Given the description of an element on the screen output the (x, y) to click on. 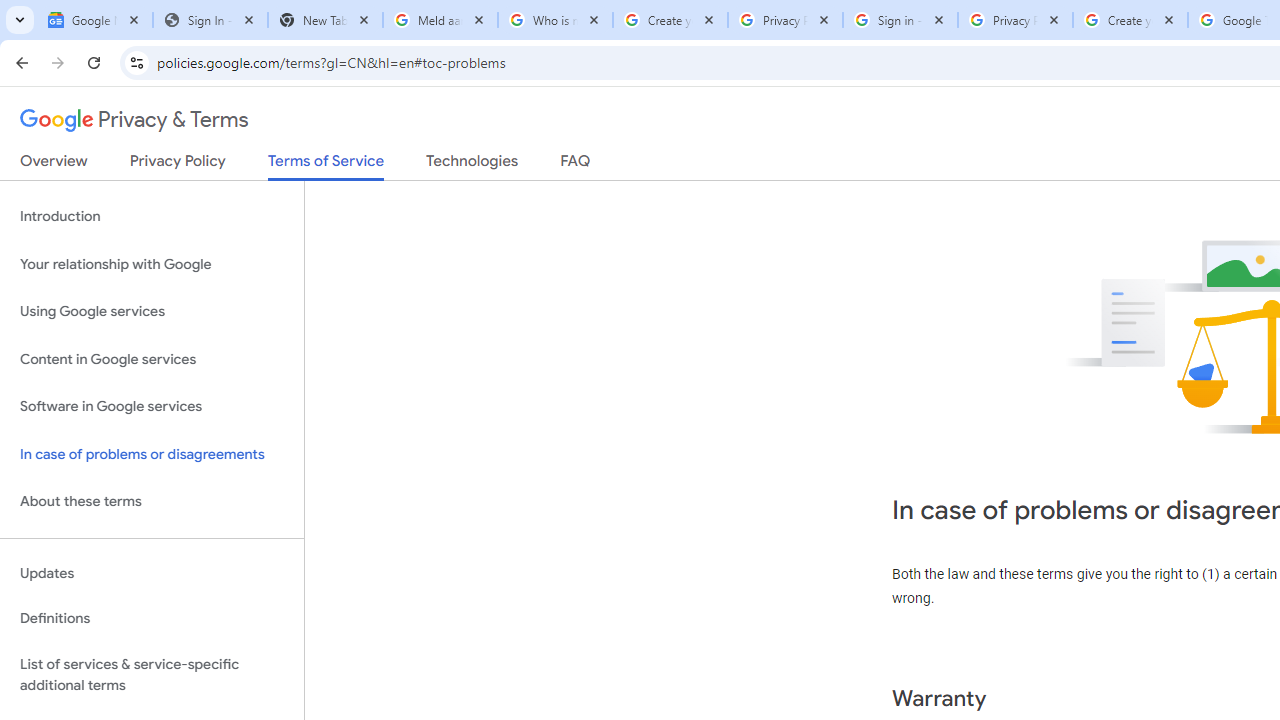
Software in Google services (152, 407)
New Tab (324, 20)
Create your Google Account (1129, 20)
Sign In - USA TODAY (209, 20)
About these terms (152, 502)
Introduction (152, 216)
Terms of Service (326, 166)
Your relationship with Google (152, 263)
In case of problems or disagreements (152, 453)
Overview (54, 165)
Sign in - Google Accounts (900, 20)
